Given the description of an element on the screen output the (x, y) to click on. 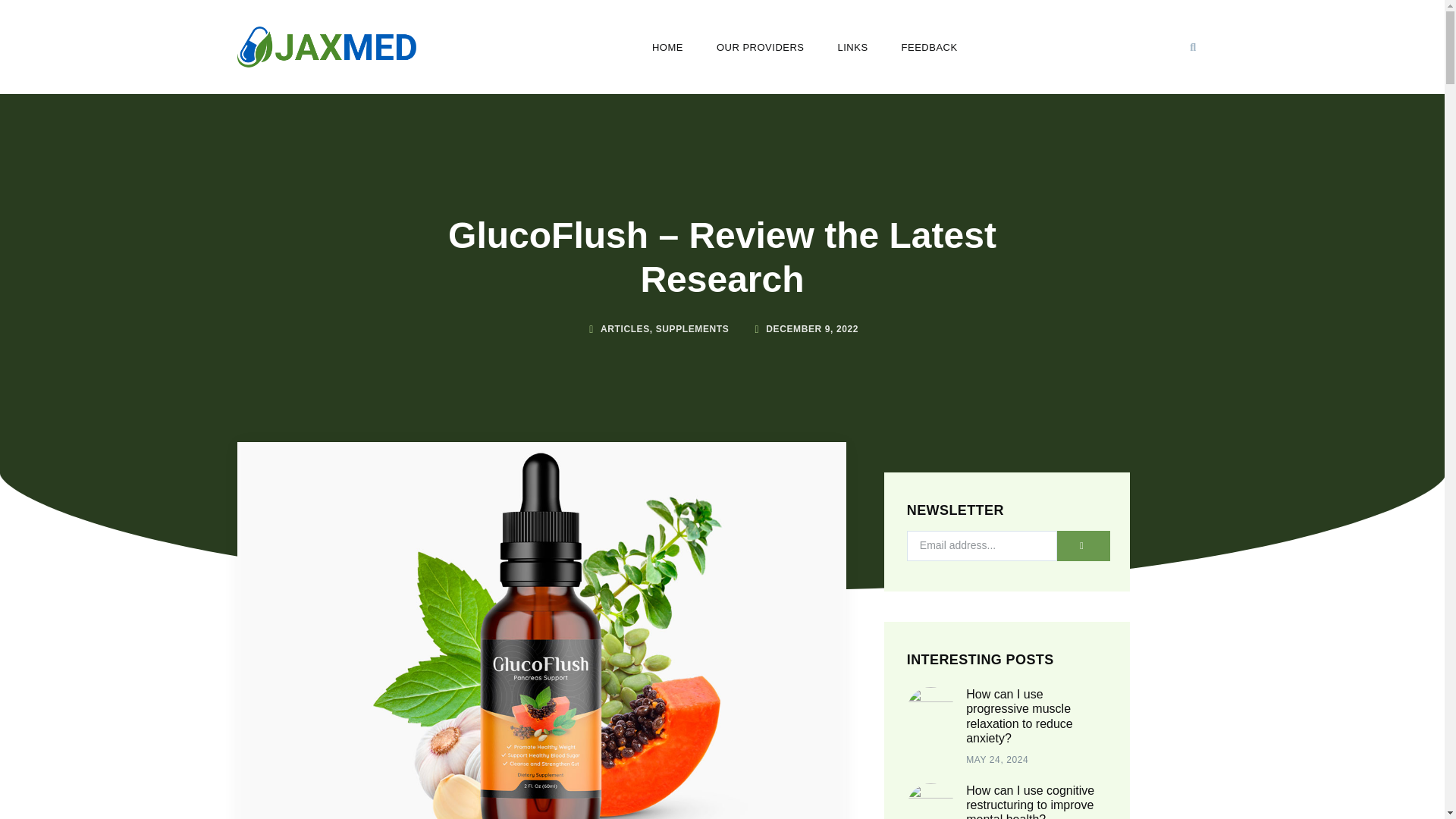
OUR PROVIDERS (760, 47)
LINKS (852, 47)
FEEDBACK (929, 47)
HOME (667, 47)
